Given the description of an element on the screen output the (x, y) to click on. 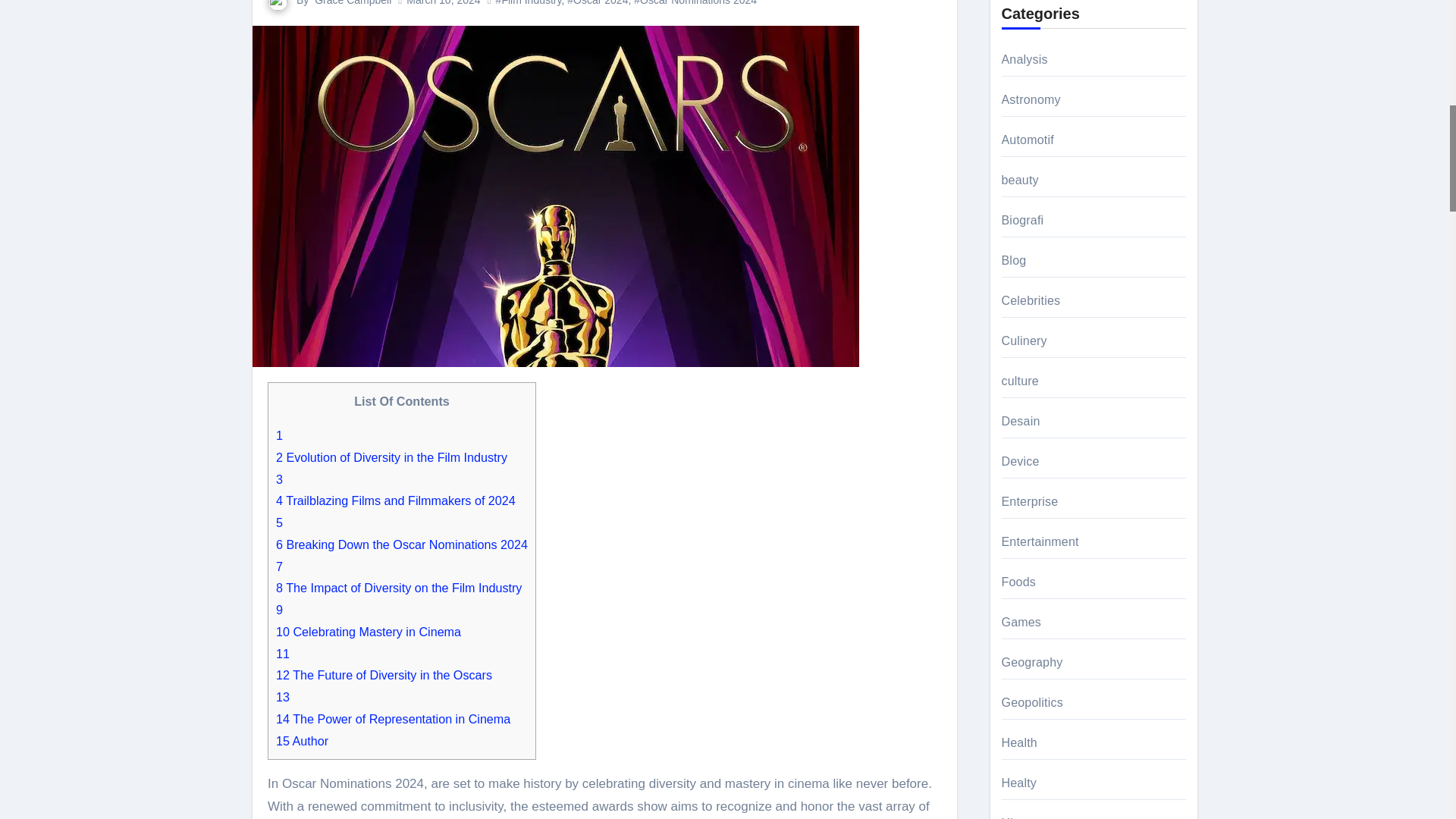
4 Trailblazing Films and Filmmakers of 2024 (395, 499)
March 10, 2024 (443, 2)
Grace Campbell (352, 2)
2 Evolution of Diversity in the Film Industry (391, 457)
6 Breaking Down the Oscar Nominations 2024 (401, 544)
